Given the description of an element on the screen output the (x, y) to click on. 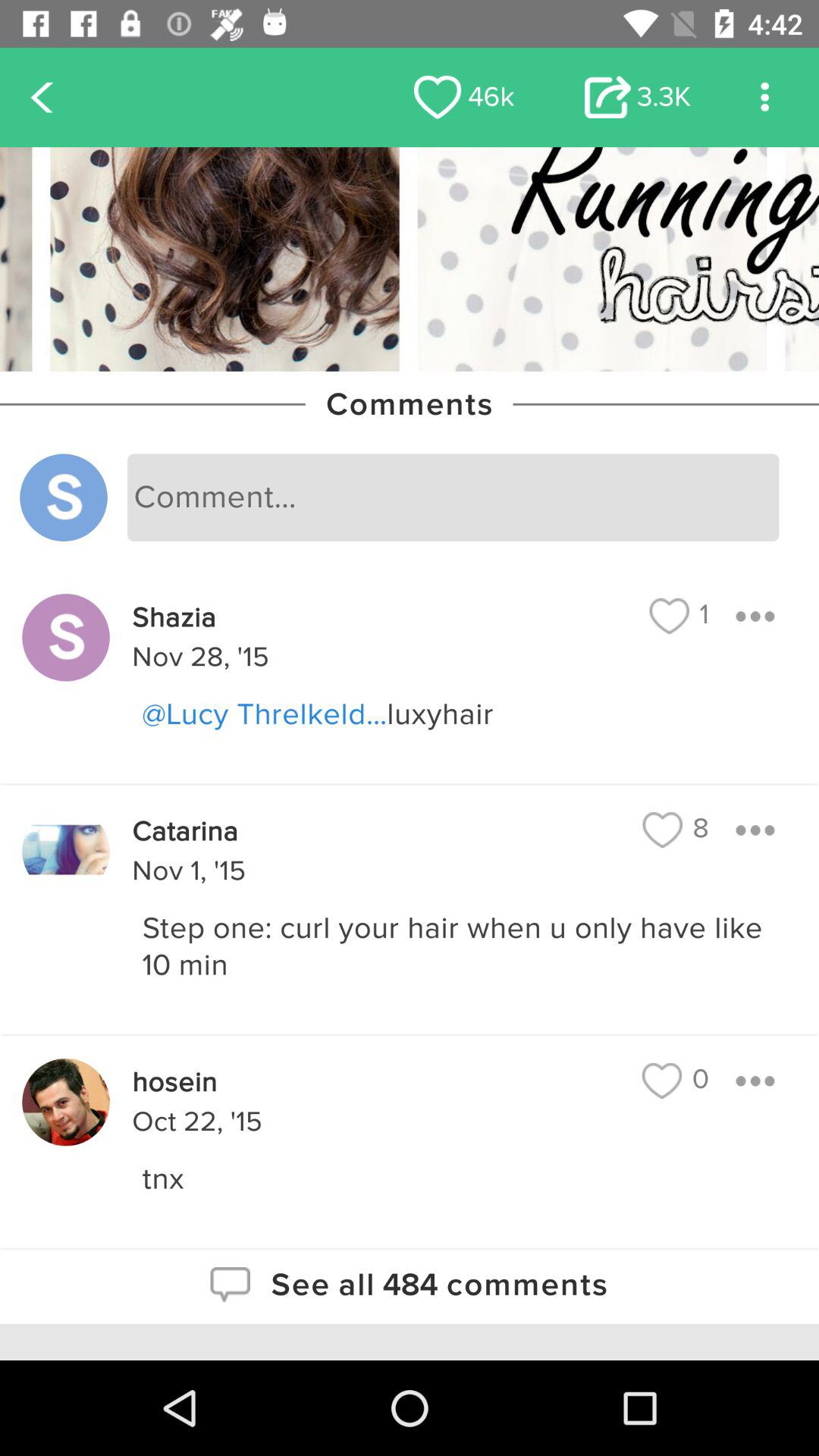
choose item next to the 3.3k (464, 97)
